Given the description of an element on the screen output the (x, y) to click on. 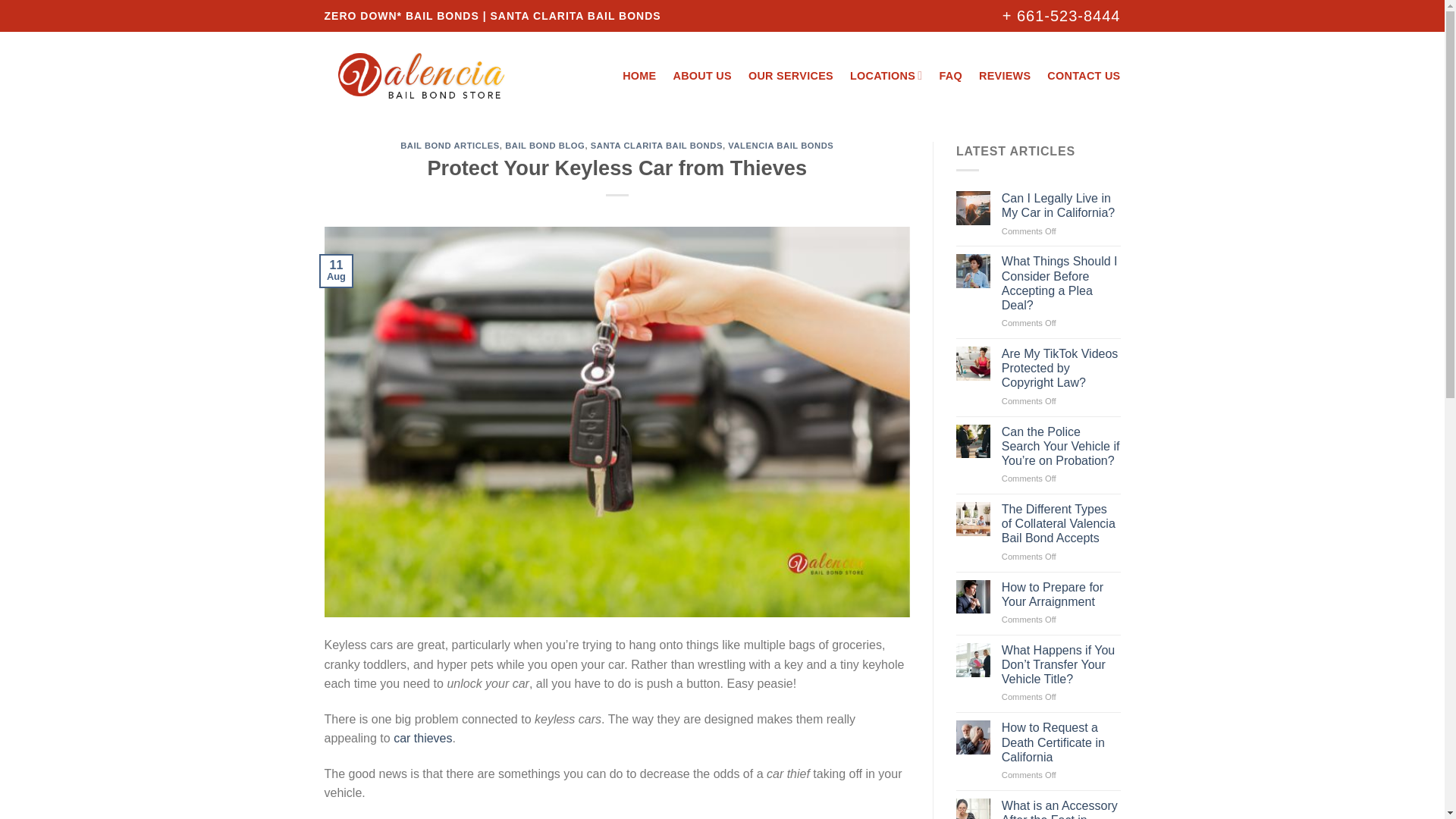
OUR SERVICES (790, 75)
Can I Legally Live in My Car in California? (1061, 205)
Valencia Bail Bond Store - No Down Payment Bail Bonds (420, 75)
REVIEWS (1004, 75)
What Things Should I Consider Before Accepting a Plea Deal? (1061, 282)
ABOUT US (701, 75)
car thieves (422, 738)
How to Request a Death Certificate in California (1061, 742)
SANTA CLARITA BAIL BONDS (656, 144)
